Given the description of an element on the screen output the (x, y) to click on. 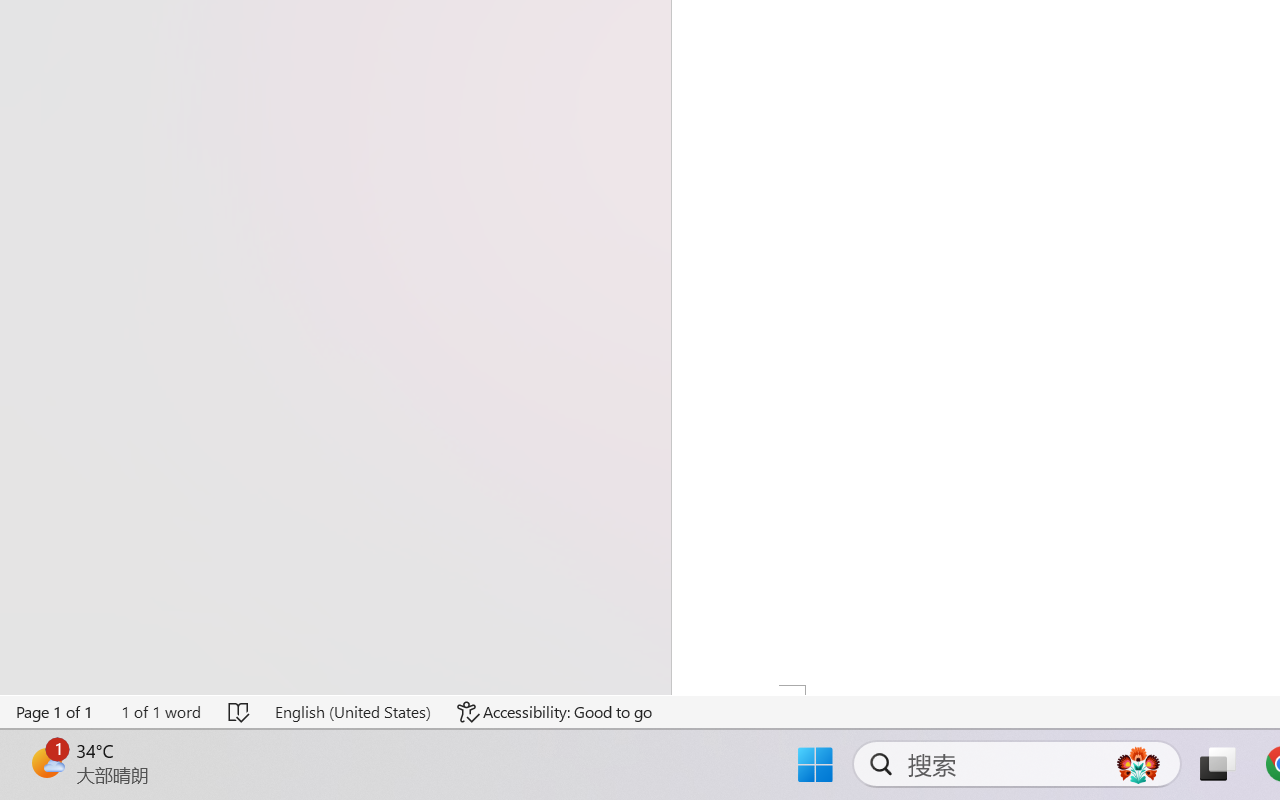
Page Number Page 1 of 1 (55, 712)
